Given the description of an element on the screen output the (x, y) to click on. 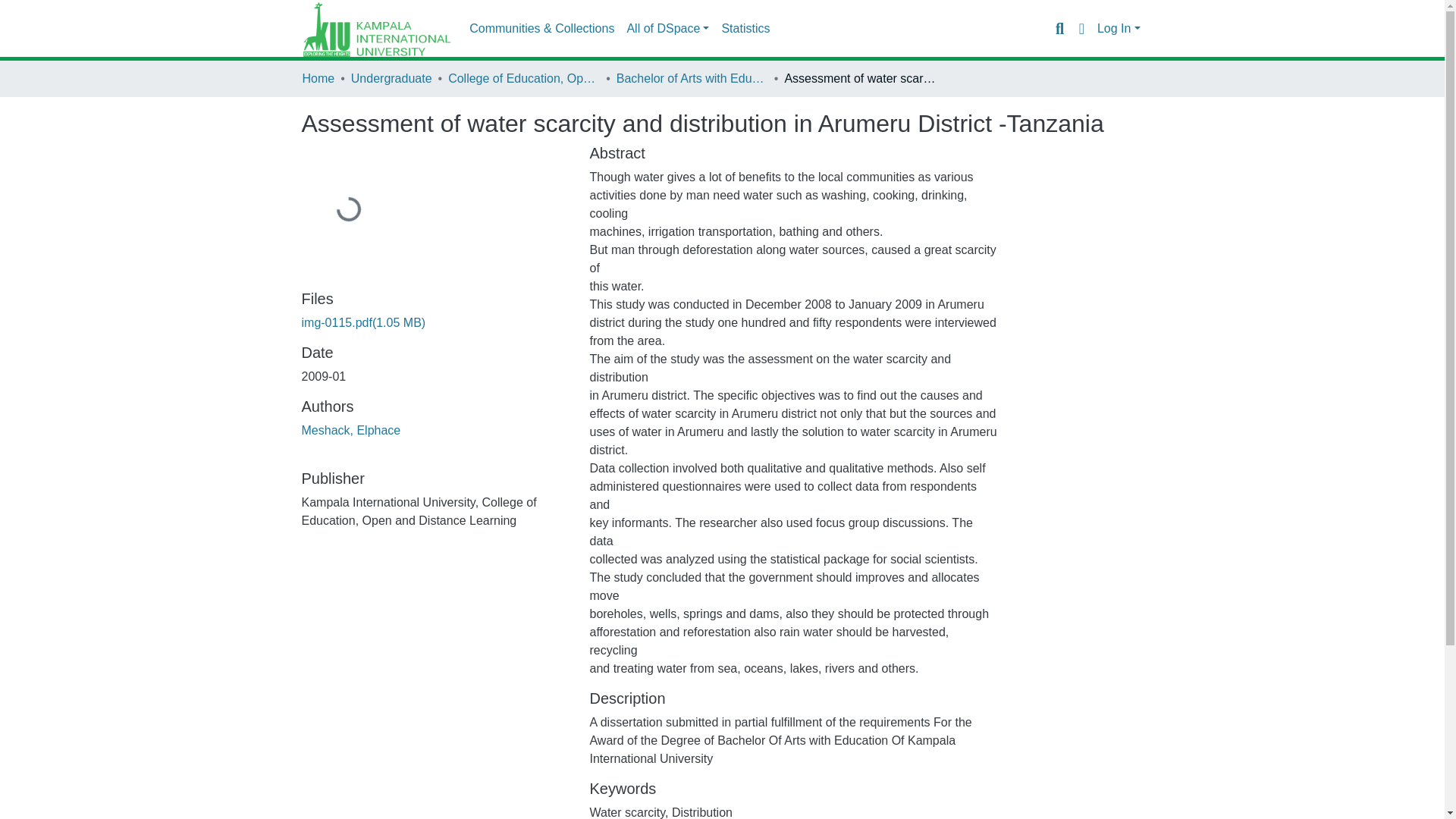
Undergraduate (391, 78)
Bachelor of Arts with Education (691, 78)
Meshack, Elphace (351, 430)
Search (1058, 28)
Home (317, 78)
Statistics (745, 28)
Language switch (1081, 28)
All of DSpace (667, 28)
Statistics (745, 28)
College of Education, Open and Distance Learning (523, 78)
Log In (1118, 28)
